Given the description of an element on the screen output the (x, y) to click on. 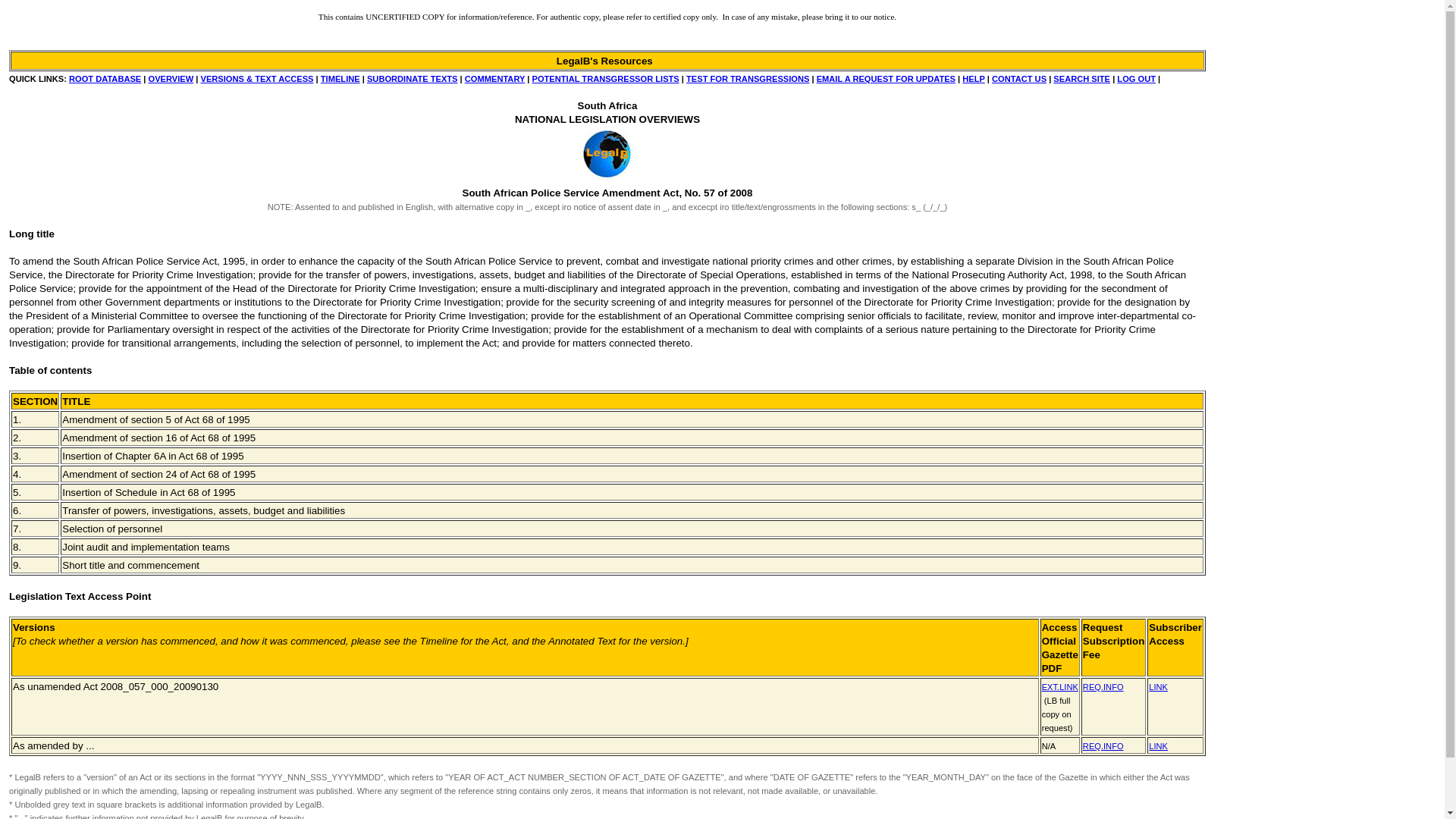
LINK (1157, 744)
EMAIL A REQUEST FOR UPDATES (885, 78)
LINK (1157, 685)
TEST FOR TRANSGRESSIONS (747, 78)
REQ.INFO (1103, 685)
ROOT DATABASE (104, 78)
OVERVIEW (170, 78)
SUBORDINATE TEXTS (412, 78)
EXT.LINK (1060, 686)
CONTACT US (1018, 78)
TIMELINE (339, 78)
SEARCH SITE (1080, 78)
LOG OUT (1136, 78)
REQ.INFO (1103, 744)
LegalB Home Page (606, 154)
